Given the description of an element on the screen output the (x, y) to click on. 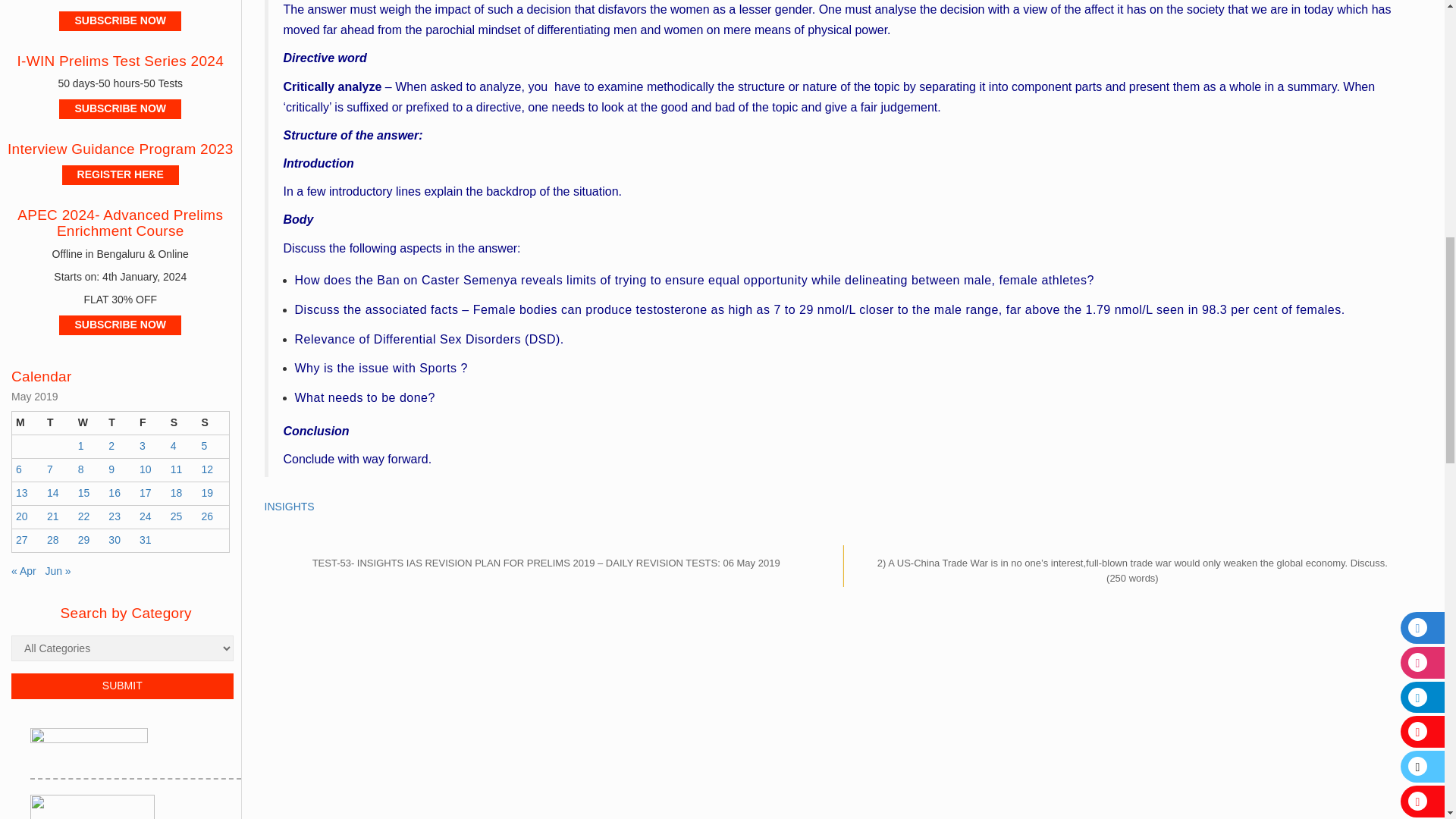
Tuesday (58, 422)
Submit (121, 686)
Monday (27, 422)
Friday (151, 422)
Wednesday (89, 422)
Saturday (182, 422)
Thursday (119, 422)
Sunday (212, 422)
